Given the description of an element on the screen output the (x, y) to click on. 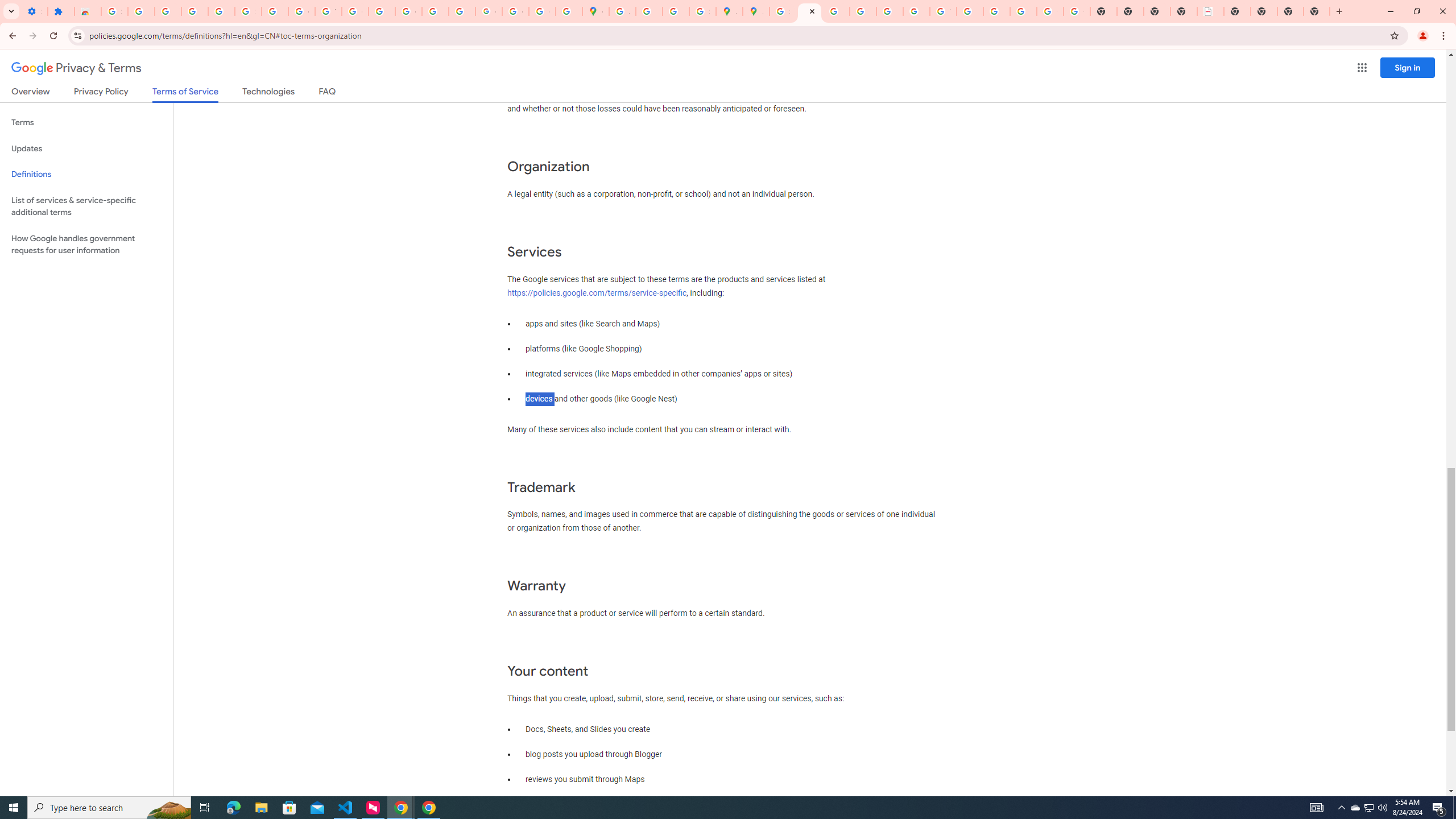
Safety in Our Products - Google Safety Center (702, 11)
Sign in - Google Accounts (248, 11)
List of services & service-specific additional terms (86, 206)
Delete photos & videos - Computer - Google Photos Help (167, 11)
How Google handles government requests for user information (86, 244)
Sign in - Google Accounts (114, 11)
